Given the description of an element on the screen output the (x, y) to click on. 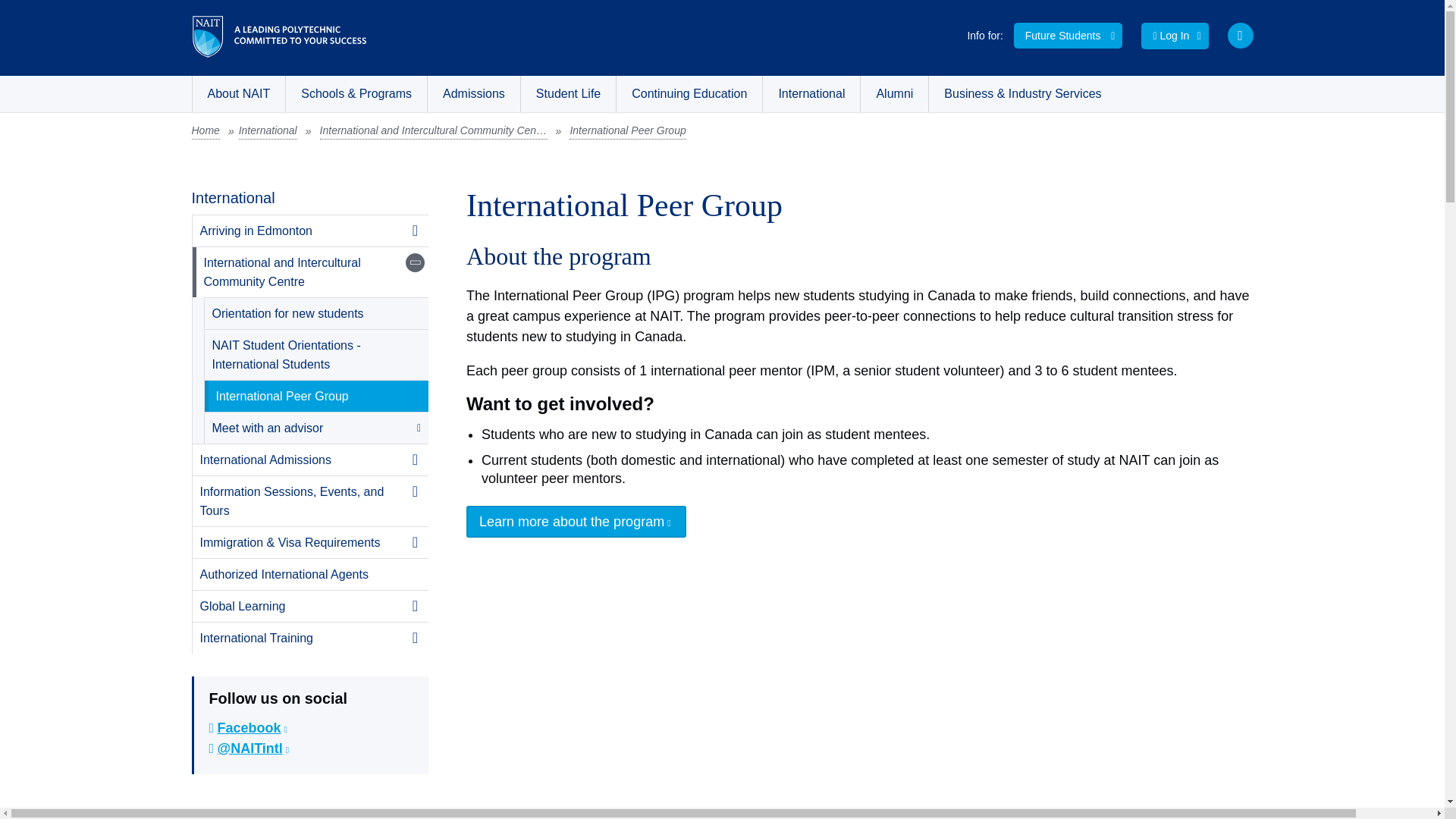
NAIT - A Leading Polytechnic Committed to Student Success (277, 36)
Future Students (1067, 35)
About NAIT (238, 94)
Log In (1174, 35)
